Given the description of an element on the screen output the (x, y) to click on. 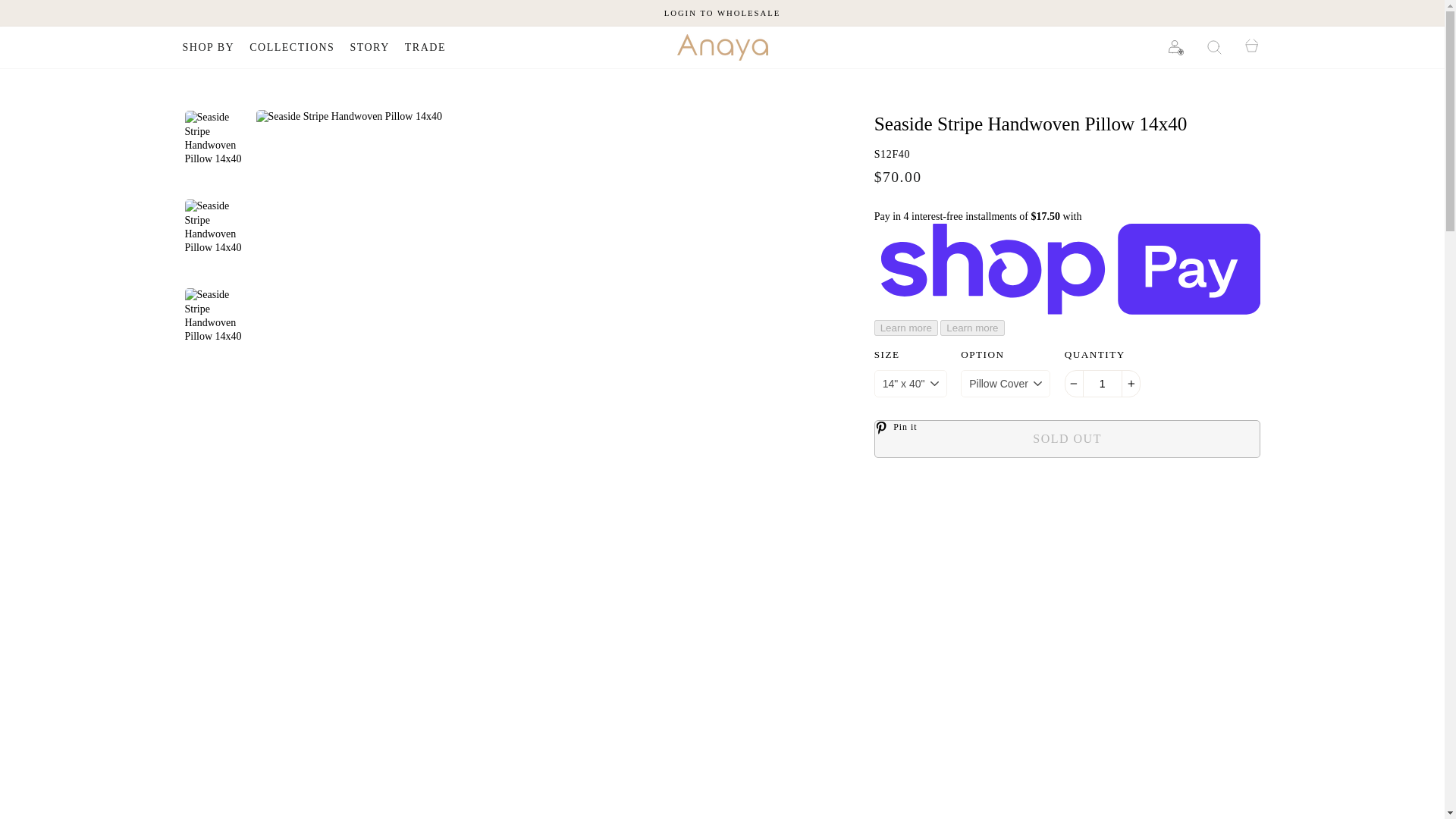
Pin on Pinterest (901, 427)
1 (1102, 383)
